Given the description of an element on the screen output the (x, y) to click on. 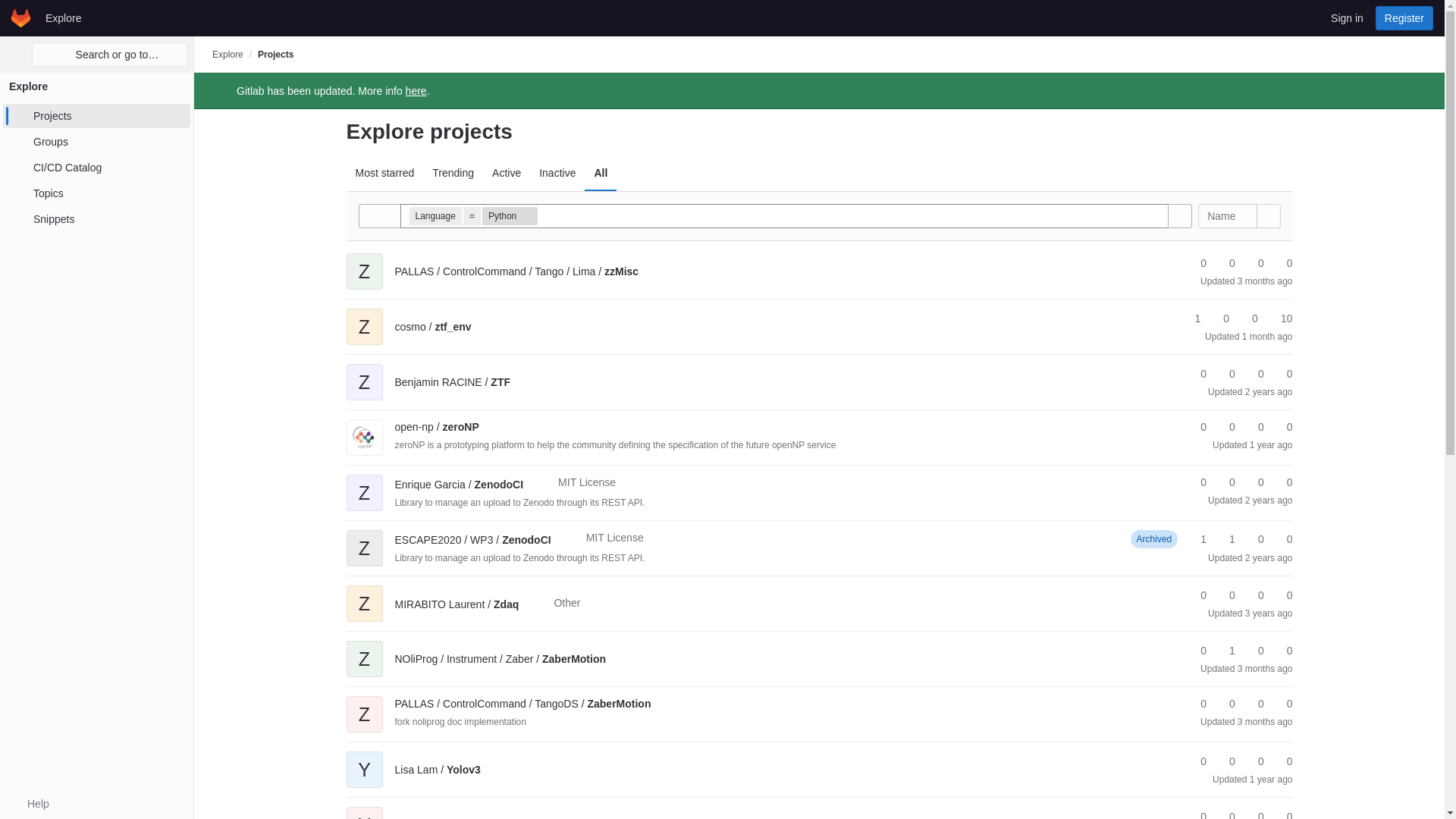
Stars (1196, 263)
Inactive (557, 172)
Projects (96, 115)
zzMisc (516, 271)
Name (1227, 215)
Groups (96, 141)
Explore (227, 54)
Explore (63, 17)
Stars (1190, 318)
Snippets (96, 218)
Issues (1282, 263)
All (600, 172)
Projects (275, 54)
Toggle history (379, 215)
Sort direction: Descending (1267, 215)
